Given the description of an element on the screen output the (x, y) to click on. 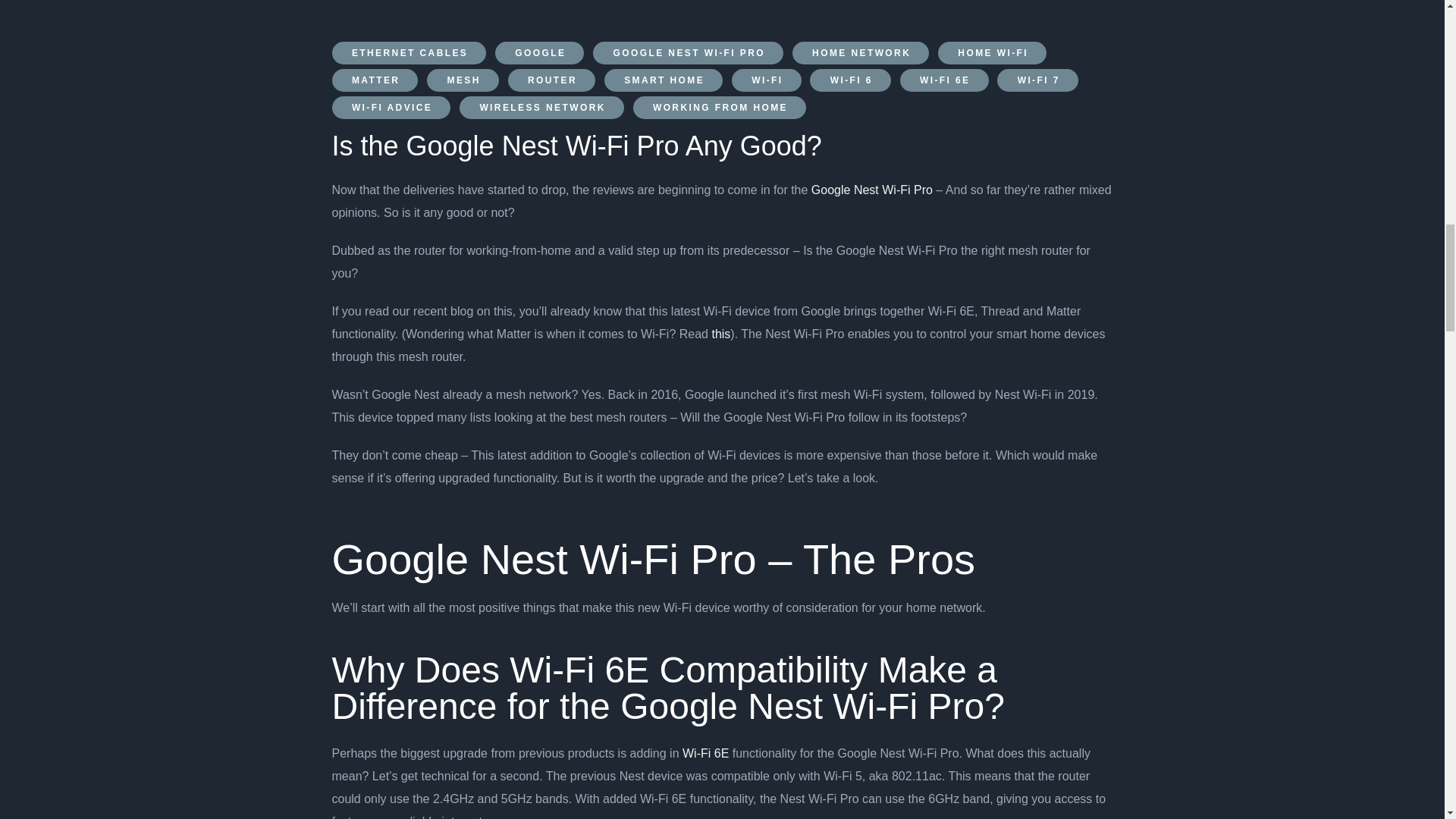
Is the Google Nest Wi-Fi Pro Any Good?  (580, 145)
SMART HOME (663, 79)
GOOGLE (539, 52)
Google Nest Wi-Fi Pro (873, 189)
ROUTER (551, 79)
GOOGLE NEST WI-FI PRO (687, 52)
WORKING FROM HOME (719, 107)
WI-FI (767, 79)
WI-FI 7 (1037, 79)
WIRELESS NETWORK (542, 107)
HOME NETWORK (861, 52)
WI-FI 6E (943, 79)
HOME WI-FI (991, 52)
WI-FI 6 (850, 79)
MATTER (375, 79)
